Given the description of an element on the screen output the (x, y) to click on. 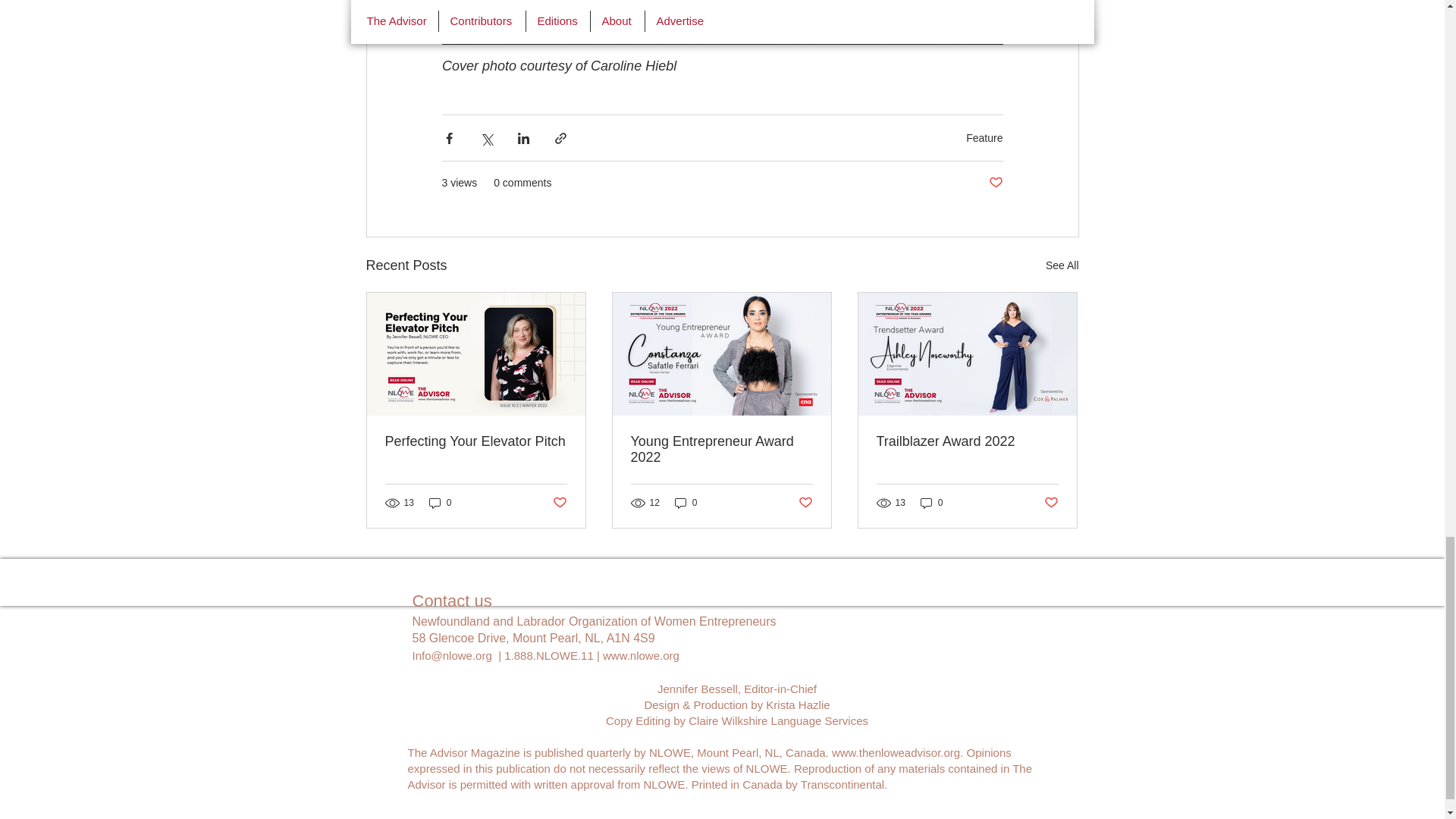
Perfecting Your Elevator Pitch (476, 441)
Post not marked as liked (804, 503)
Feature (984, 137)
Trailblazer Award 2022 (967, 441)
0 (931, 503)
Young Entrepreneur Award 2022 (721, 450)
Post not marked as liked (995, 182)
See All (1061, 265)
0 (685, 503)
Post not marked as liked (558, 503)
